Given the description of an element on the screen output the (x, y) to click on. 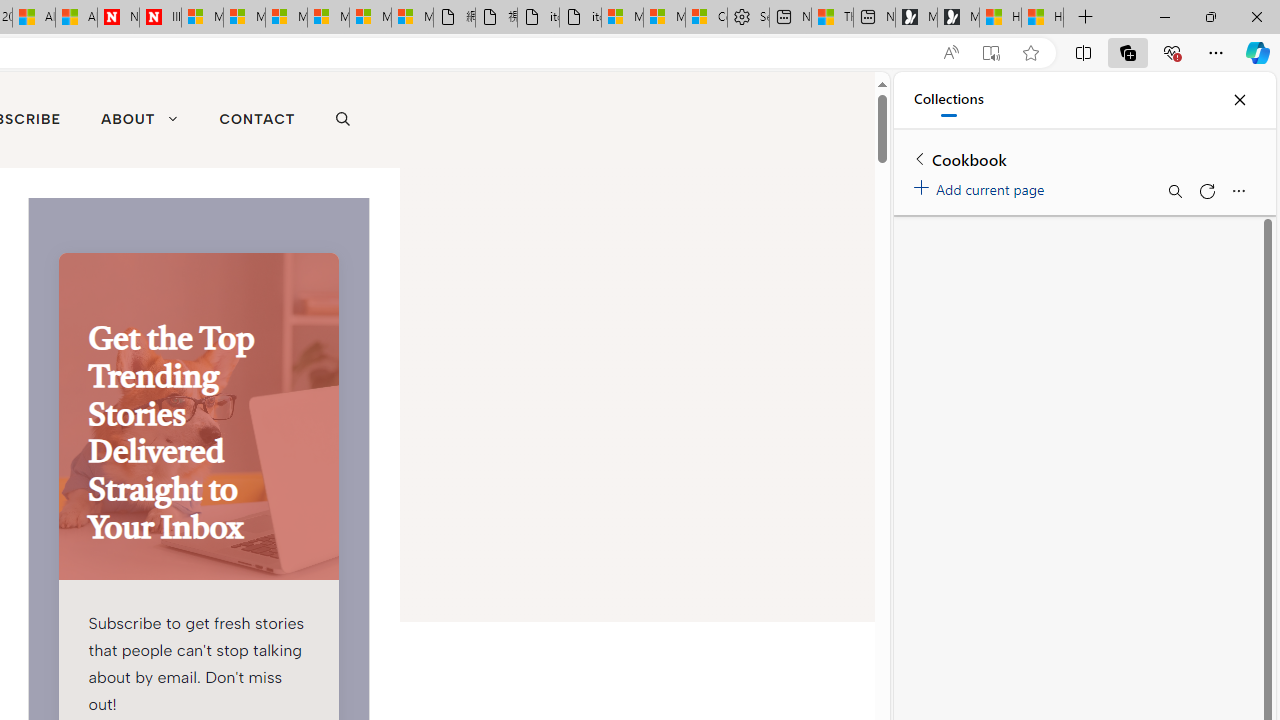
Enter Immersive Reader (F9) (991, 53)
ABOUT (139, 119)
More options menu (1238, 190)
itconcepthk.com/projector_solutions.mp4 (580, 17)
Microsoft Start Gaming (958, 17)
